Given the description of an element on the screen output the (x, y) to click on. 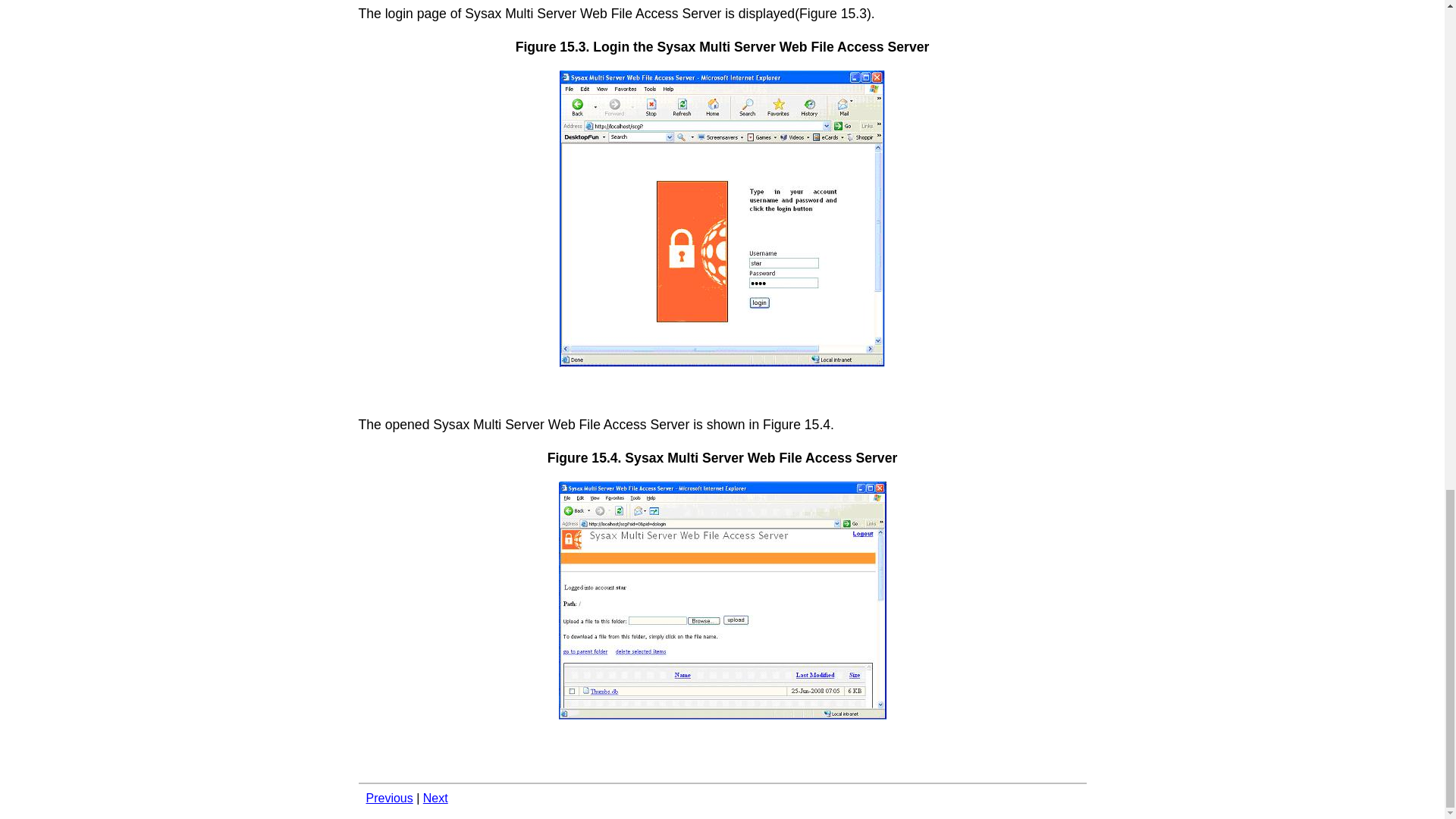
Next (435, 797)
Previous (388, 797)
